Given the description of an element on the screen output the (x, y) to click on. 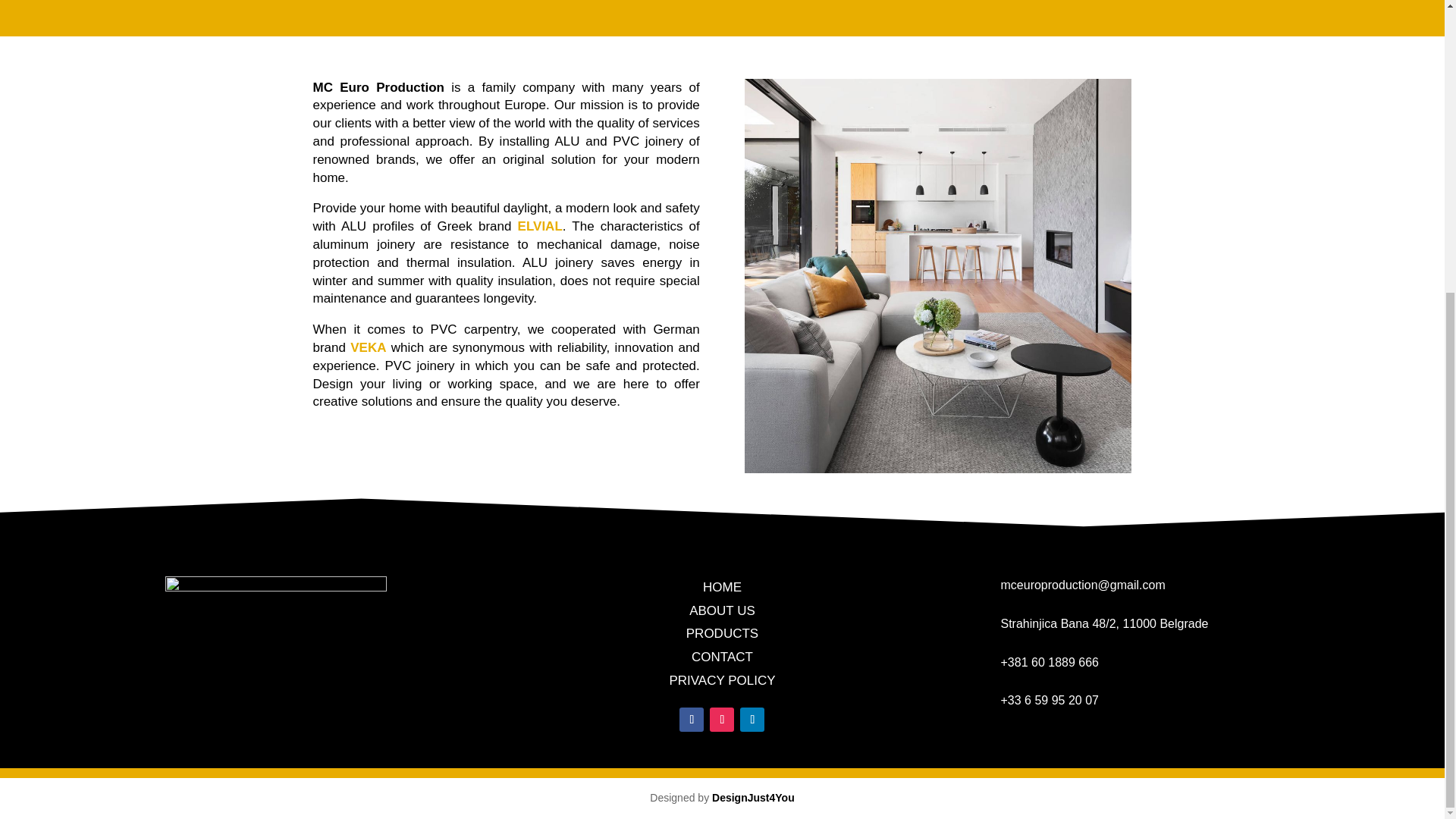
HOME (722, 586)
mc-euro-logo-1-682bd236 (276, 652)
Follow on Facebook (691, 719)
Follow on LinkedIn (751, 719)
ABOUT US (721, 610)
PRODUCTS (721, 633)
Follow on Instagram (721, 719)
CONTACT (721, 657)
VEKA (367, 347)
PRIVACY POLICY (721, 680)
